Given the description of an element on the screen output the (x, y) to click on. 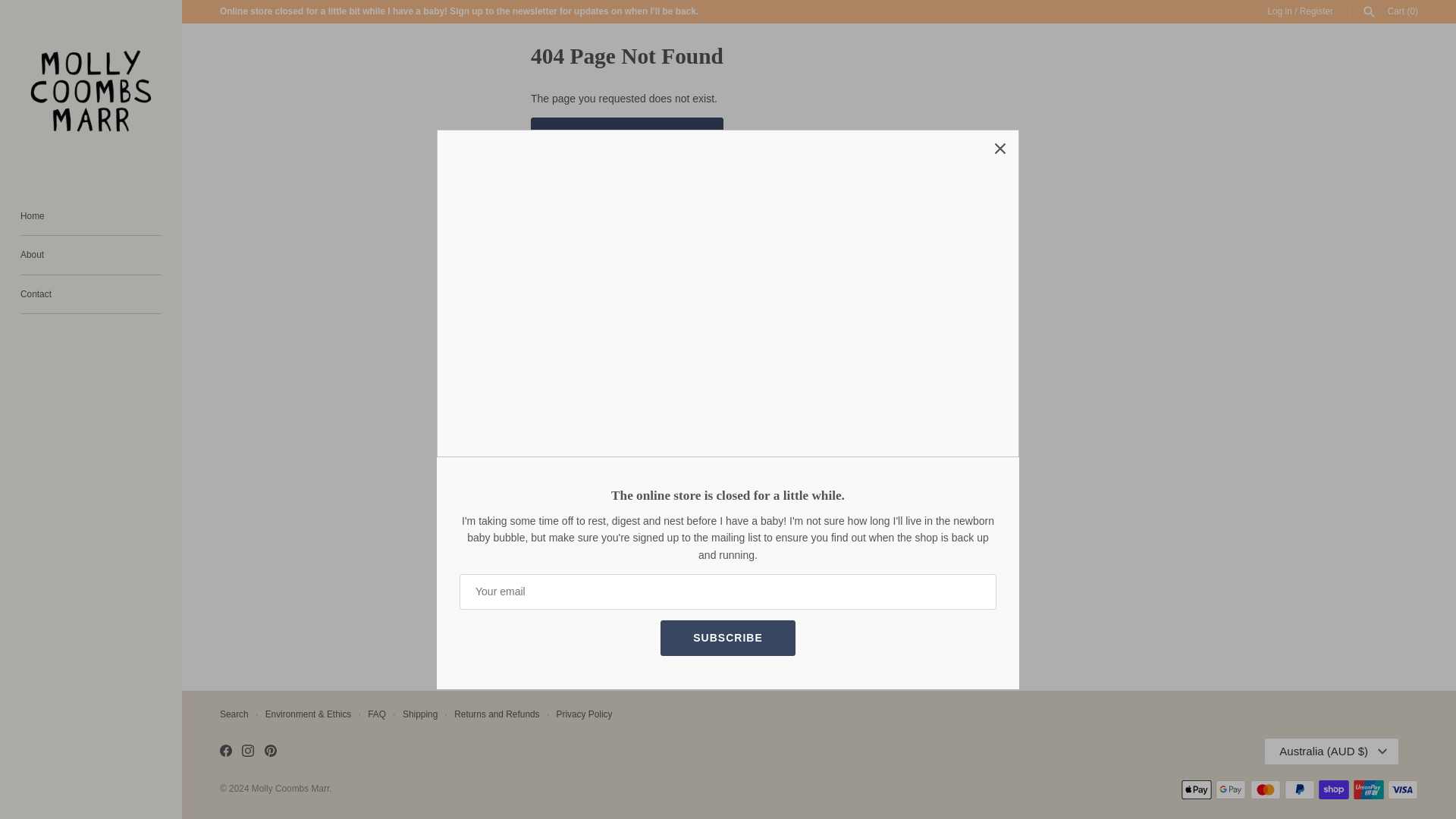
Molly Coombs Marr (290, 787)
Search (233, 714)
Instagram (247, 751)
Contact (90, 294)
Shop Pay (1334, 789)
Privacy Policy (584, 714)
Google Pay (1230, 789)
Log in (1278, 10)
Shipping (420, 714)
Pinterest (270, 750)
Mastercard (1265, 789)
Visa (1402, 789)
About (90, 254)
CONTINUE SHOPPING (627, 135)
Home (90, 216)
